Given the description of an element on the screen output the (x, y) to click on. 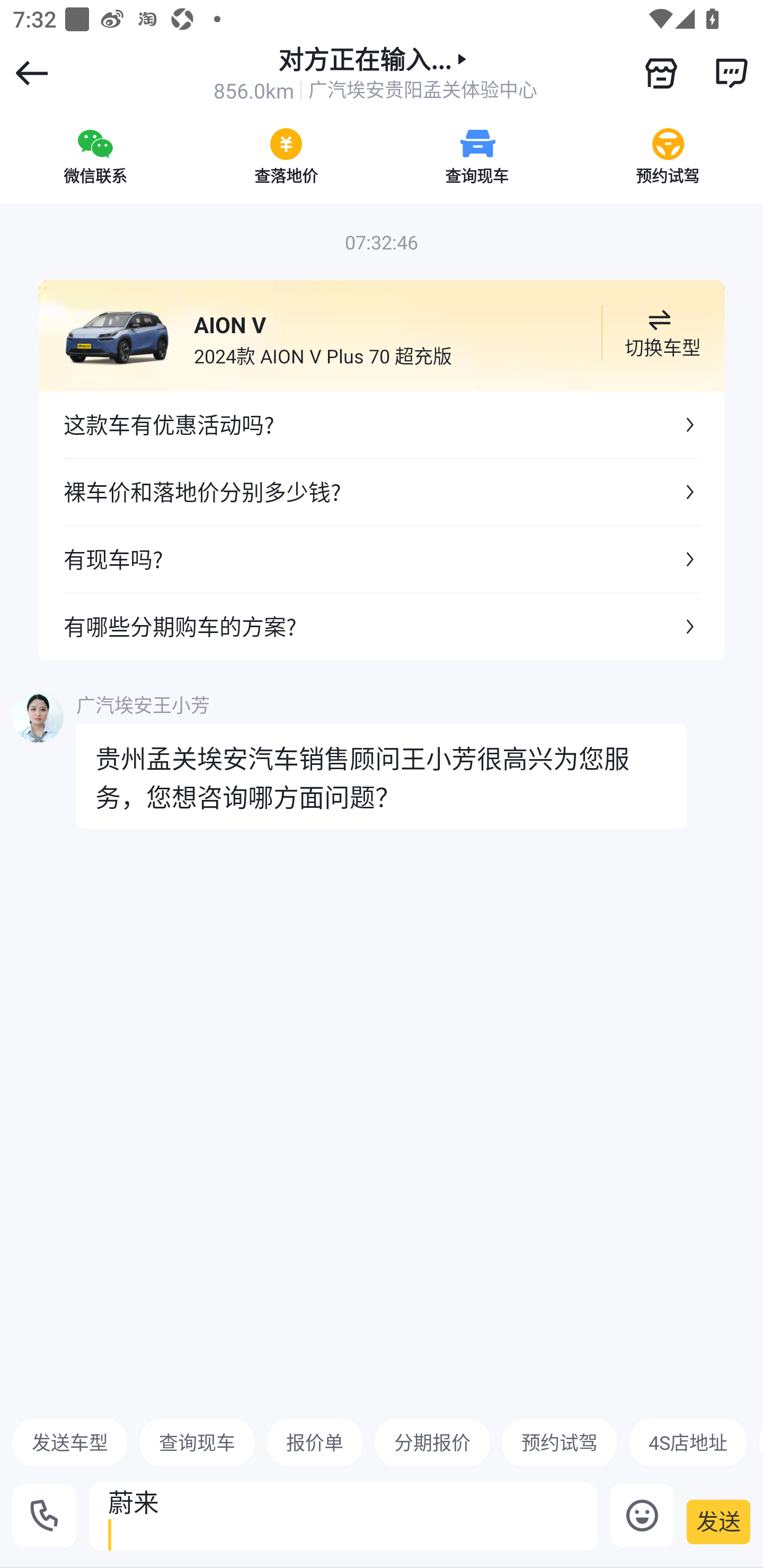
对方正在输入... 856.0km 广汽埃安贵阳孟关体验中心 (374, 73)
 (730, 72)
 (661, 73)
微信联系 (95, 155)
查落地价 (285, 155)
查询现车 (476, 155)
预约试驾 (667, 155)
切换车型 (659, 332)
这款车有优惠活动吗? (381, 424)
裸车价和落地价分别多少钱? (381, 492)
有现车吗? (381, 558)
有哪些分期购车的方案? (381, 626)
贵州孟关埃安汽车销售顾问王小芳很高兴为您服务，您想咨询哪方面问题？ (381, 775)
发送车型 (69, 1442)
查询现车 (196, 1442)
报价单 (314, 1442)
分期报价 (432, 1442)
预约试驾 (559, 1442)
4S店地址 (687, 1442)
蔚来
 (343, 1515)
发送 (718, 1521)
